Given the description of an element on the screen output the (x, y) to click on. 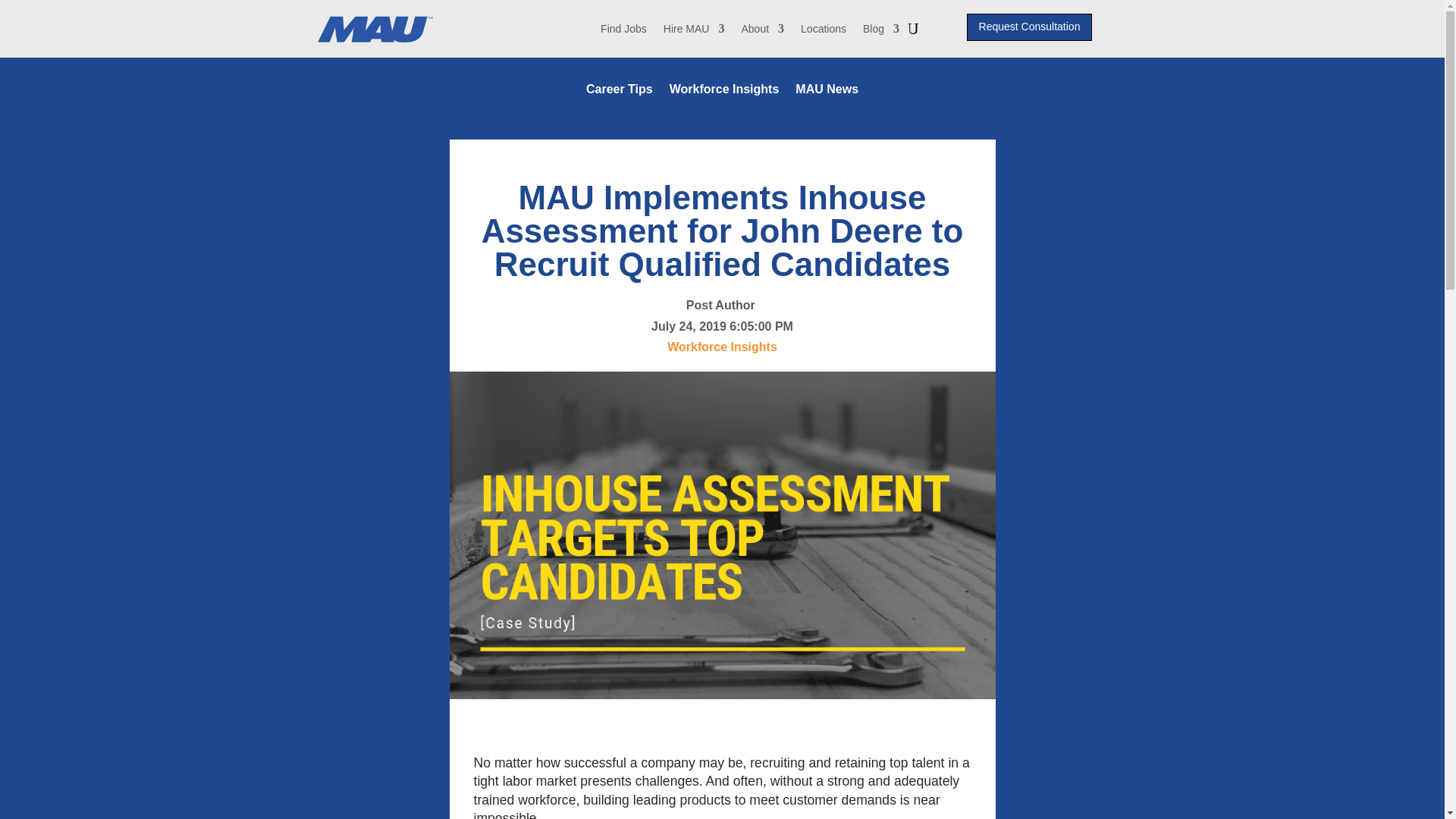
Request Consultation (1029, 26)
Workforce Insights (723, 92)
MAU News (826, 92)
Hire MAU (694, 28)
Workforce Insights (721, 347)
Career Tips (619, 92)
